Given the description of an element on the screen output the (x, y) to click on. 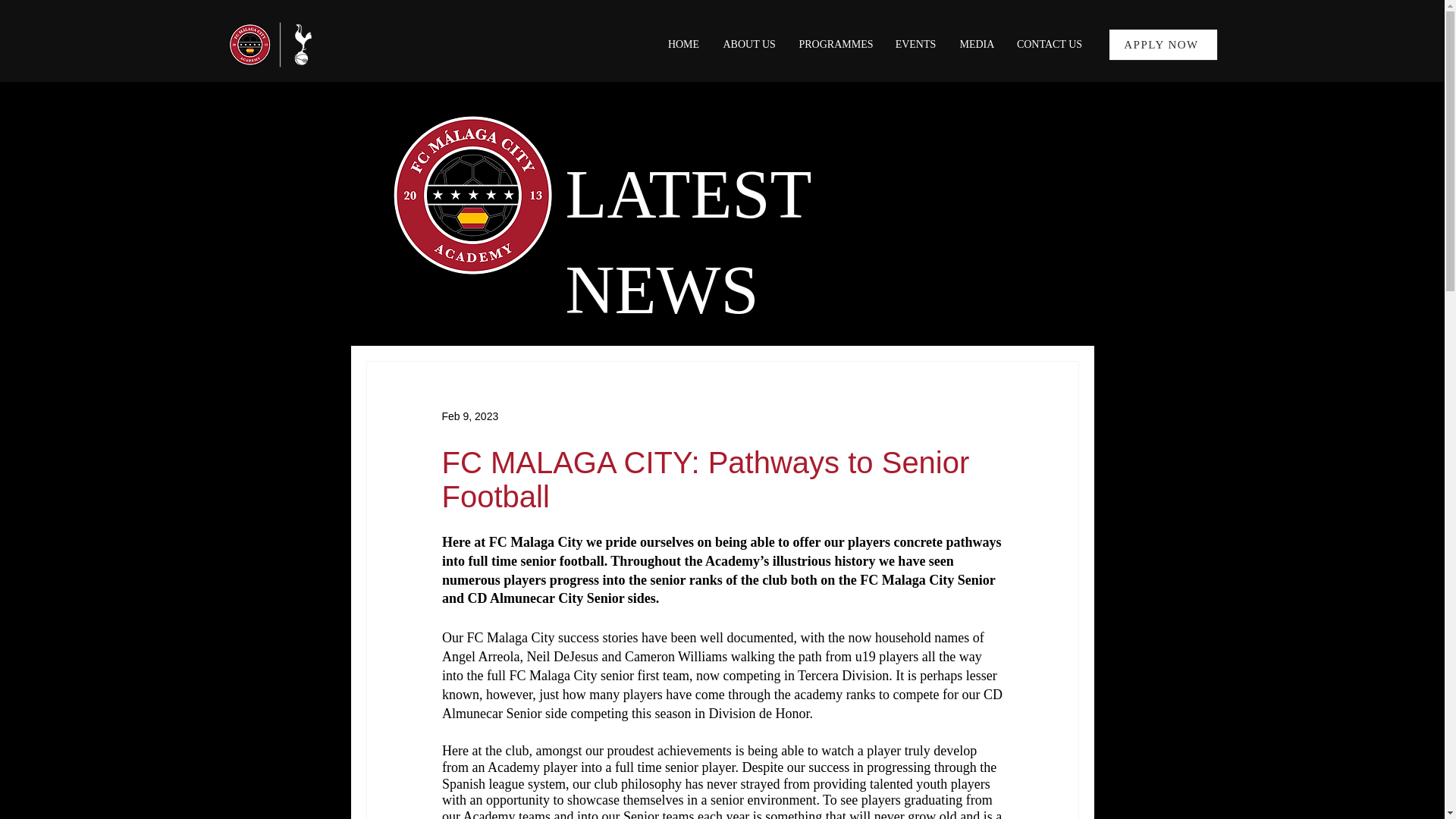
HOME (683, 44)
EVENTS (915, 44)
Feb 9, 2023 (469, 415)
FC Malaga City Academy Spain (279, 44)
CONTACT US (1050, 44)
MEDIA (975, 44)
APPLY NOW (1161, 44)
